Given the description of an element on the screen output the (x, y) to click on. 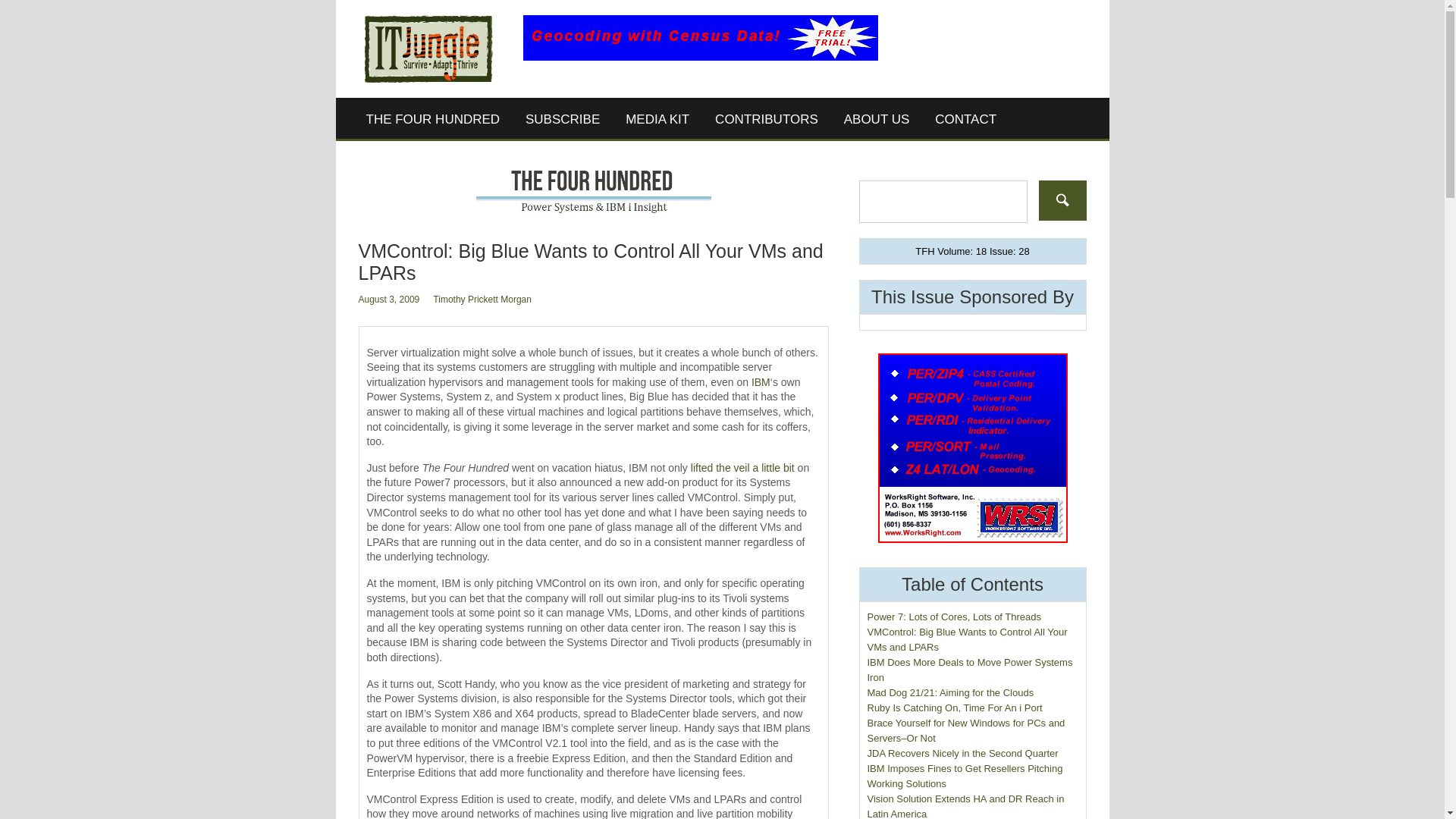
IBM (760, 381)
CONTRIBUTORS (766, 119)
CONTACT (965, 119)
lifted the veil a little bit (742, 467)
THE FOUR HUNDRED (433, 119)
MEDIA KIT (657, 119)
Search (1062, 200)
ABOUT US (876, 119)
SUBSCRIBE (562, 119)
